Given the description of an element on the screen output the (x, y) to click on. 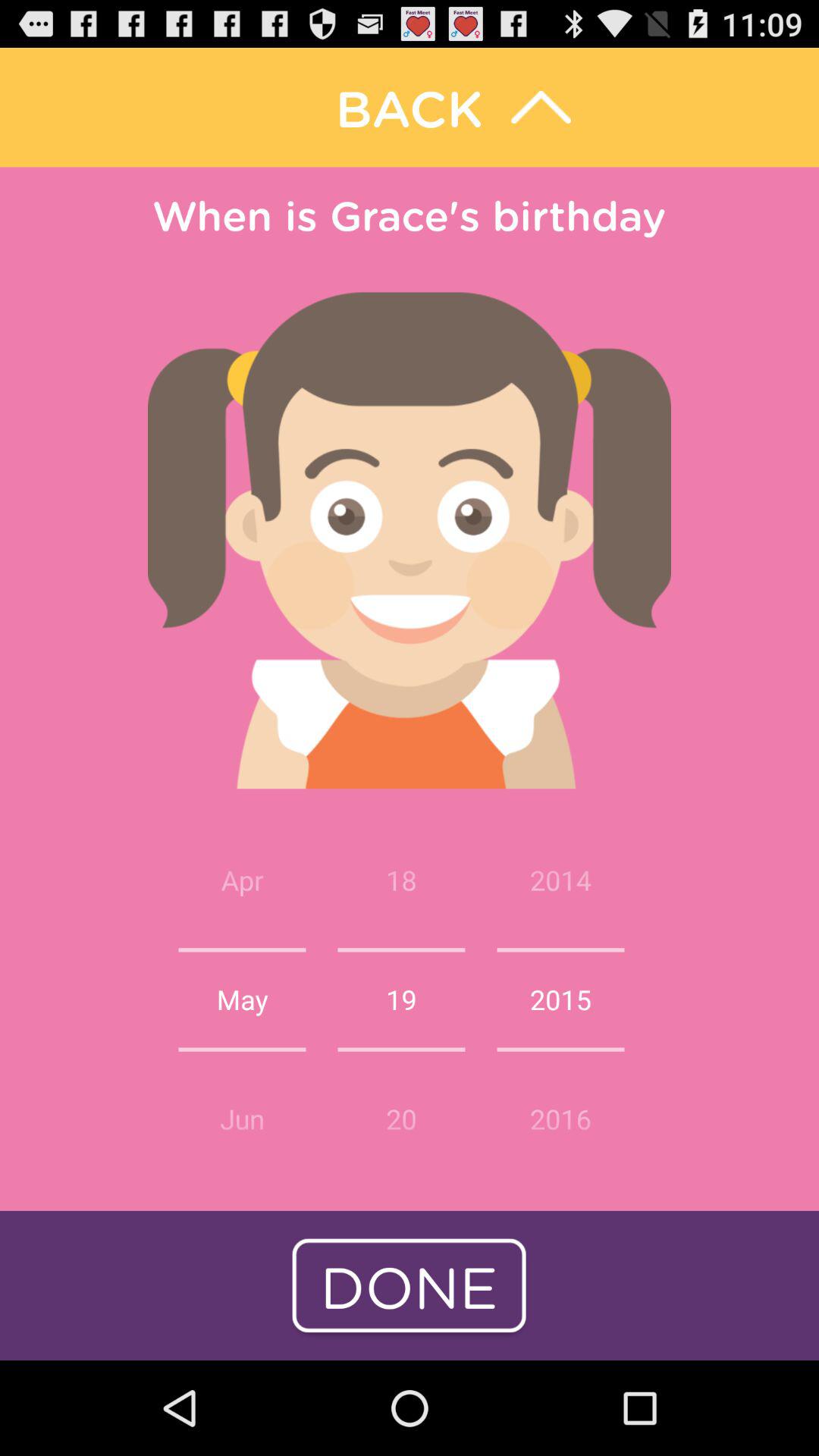
back button (409, 107)
